Given the description of an element on the screen output the (x, y) to click on. 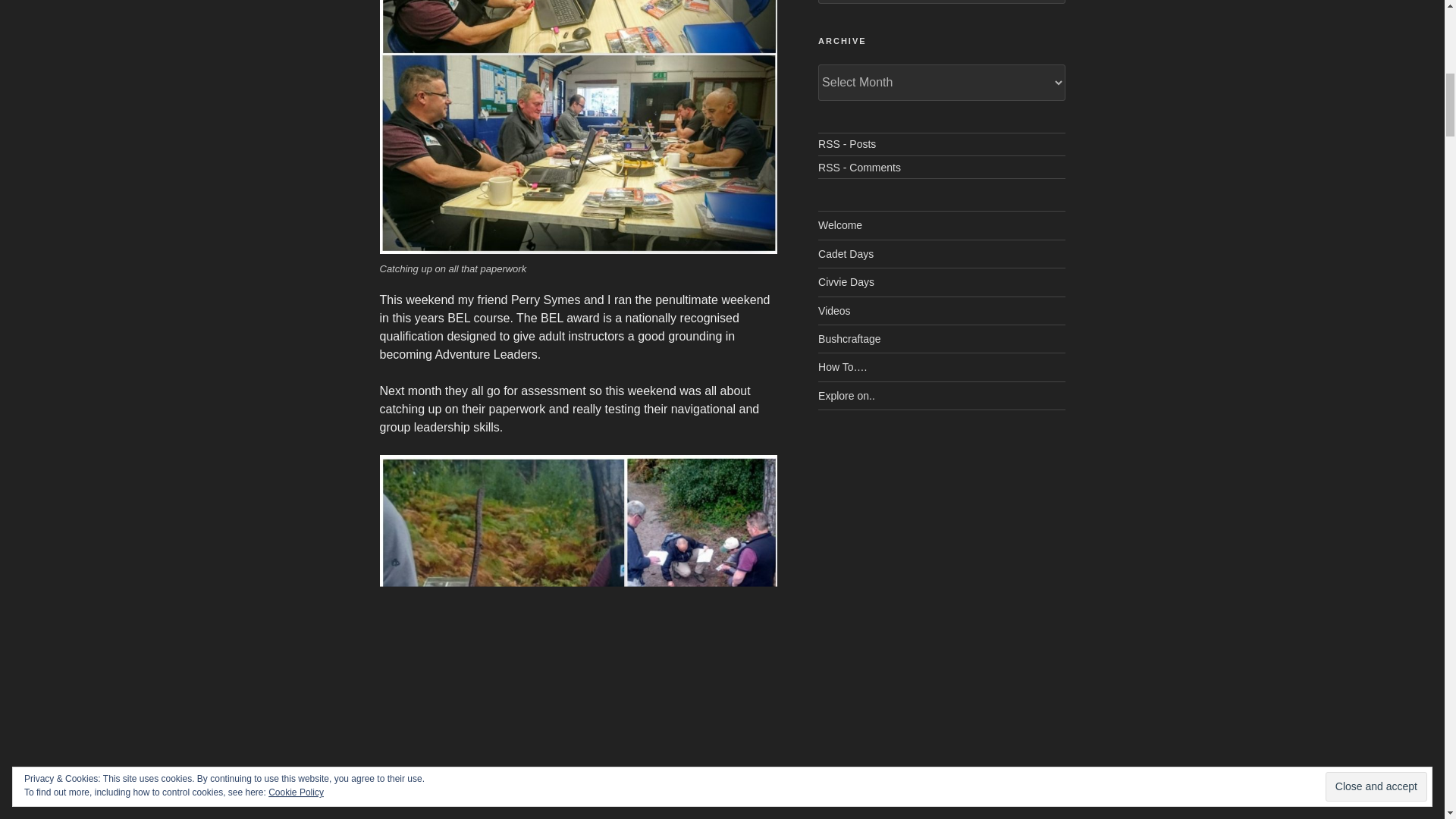
RSS - Comments (859, 167)
Welcome (839, 224)
Videos (834, 310)
Civvie Days (846, 282)
Cadet Days (845, 254)
Bushcraftage (849, 338)
Subscribe to comments (859, 167)
RSS - Posts (847, 143)
Subscribe to posts (847, 143)
